Given the description of an element on the screen output the (x, y) to click on. 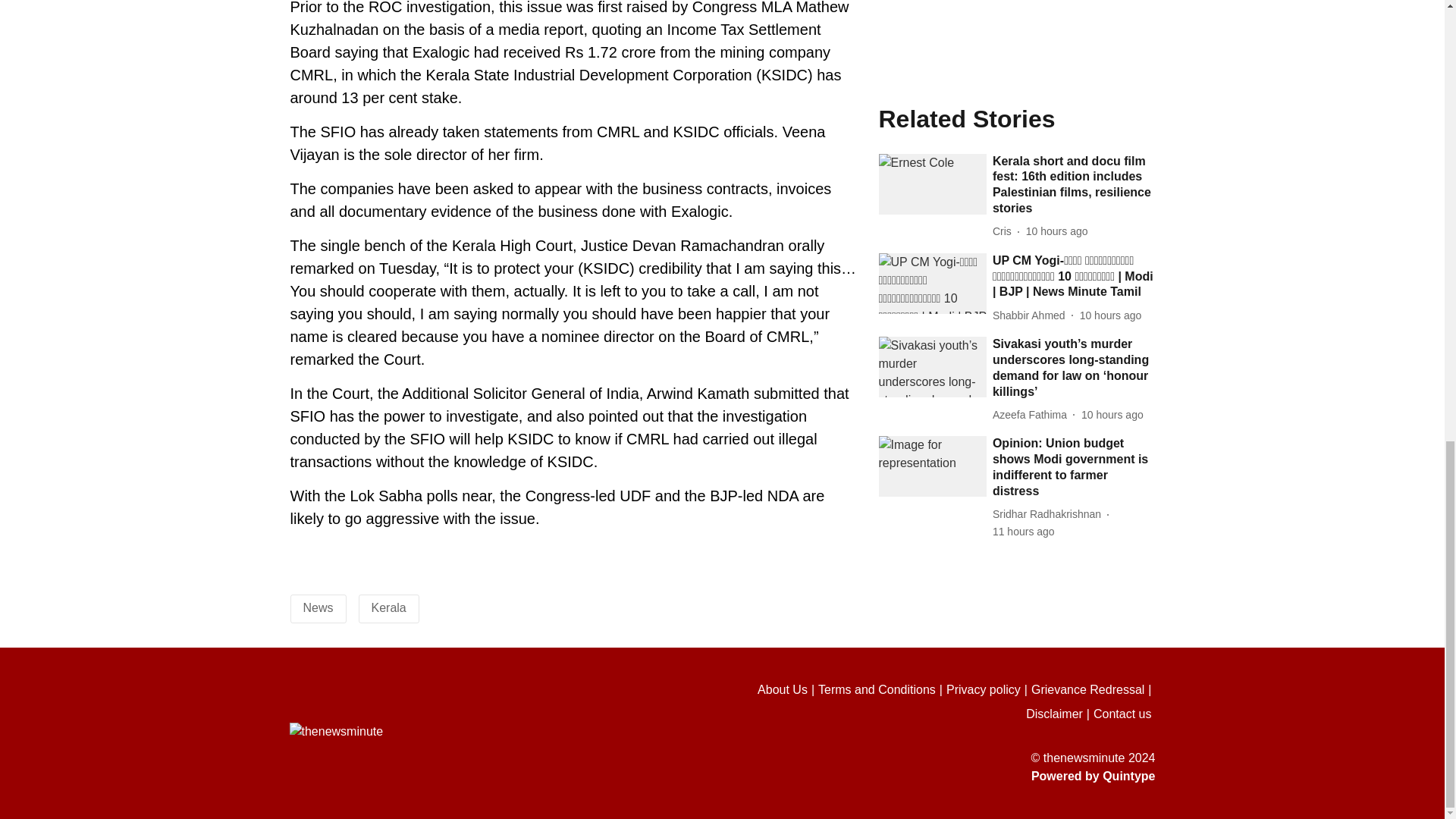
News (317, 607)
About Us (787, 689)
Kerala (388, 607)
